Given the description of an element on the screen output the (x, y) to click on. 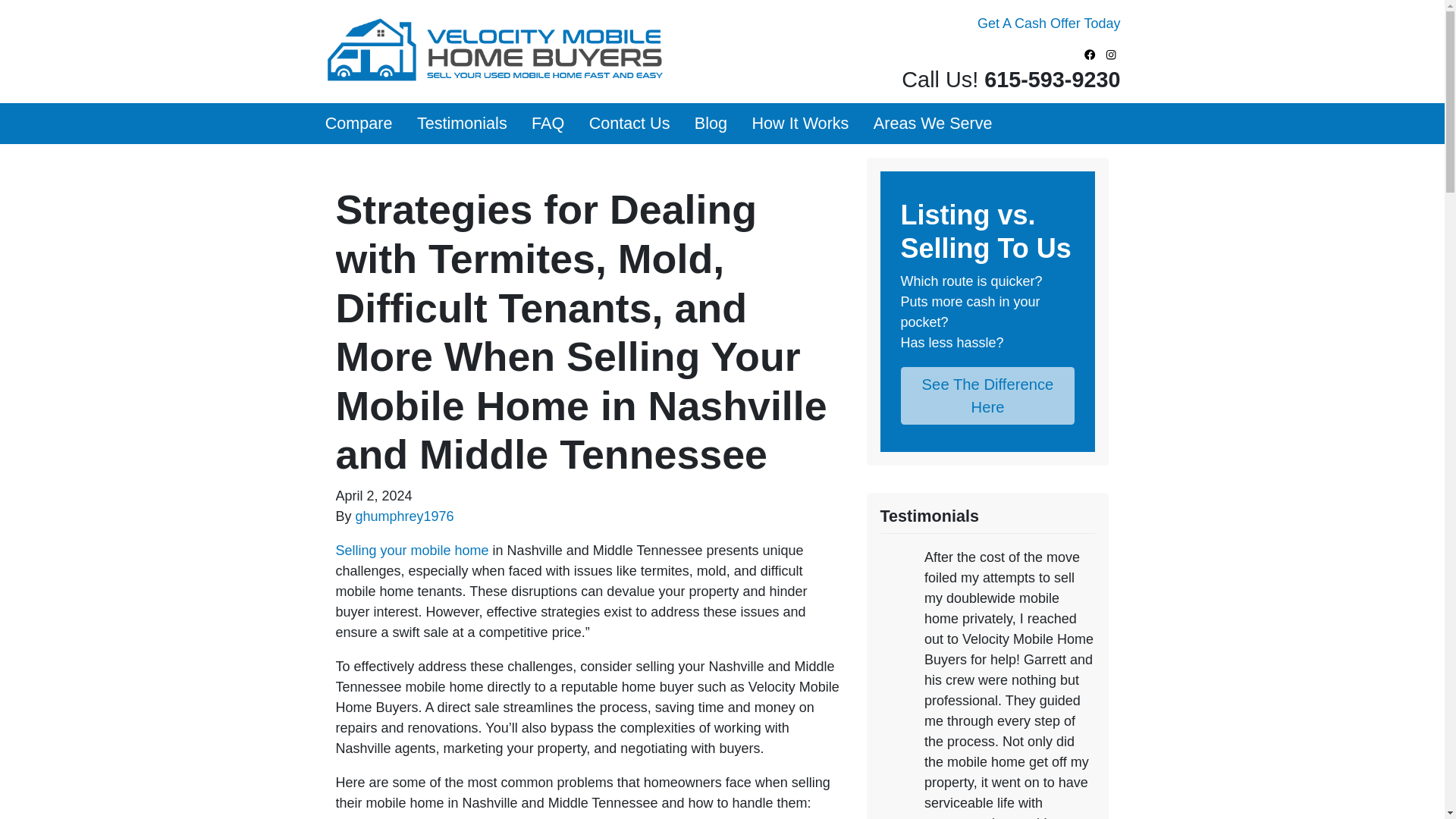
How It Works (799, 123)
Facebook (1090, 54)
Blog (710, 123)
Selling your mobile home (410, 549)
FAQ (547, 123)
FAQ (547, 123)
Testimonials (461, 123)
Areas We Serve (932, 123)
Compare (358, 123)
Contact Us (628, 123)
